Given the description of an element on the screen output the (x, y) to click on. 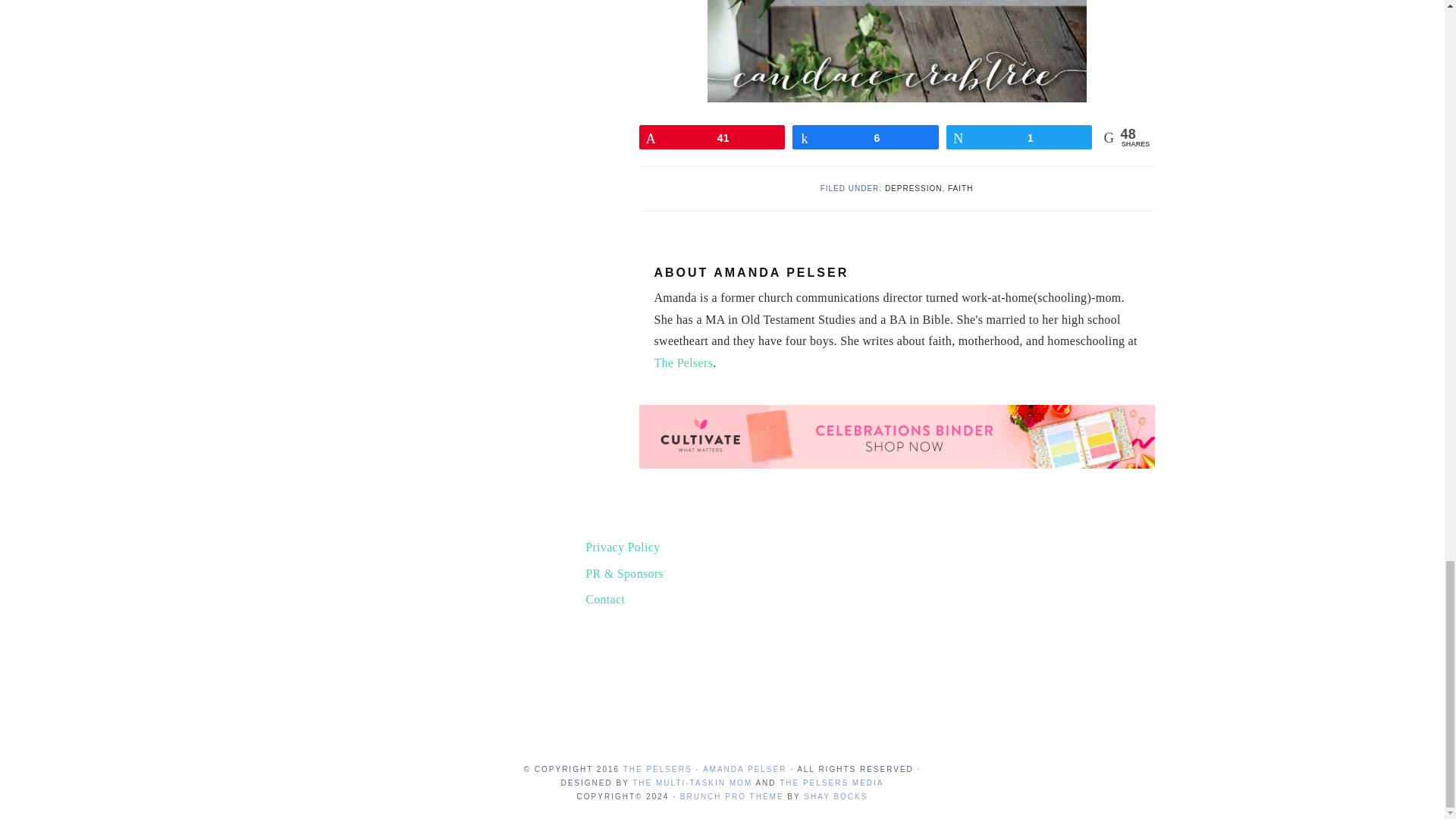
The Pelsers (683, 362)
1 (1019, 137)
6 (865, 137)
FAITH (959, 188)
DEPRESSION (913, 188)
41 (712, 137)
